Given the description of an element on the screen output the (x, y) to click on. 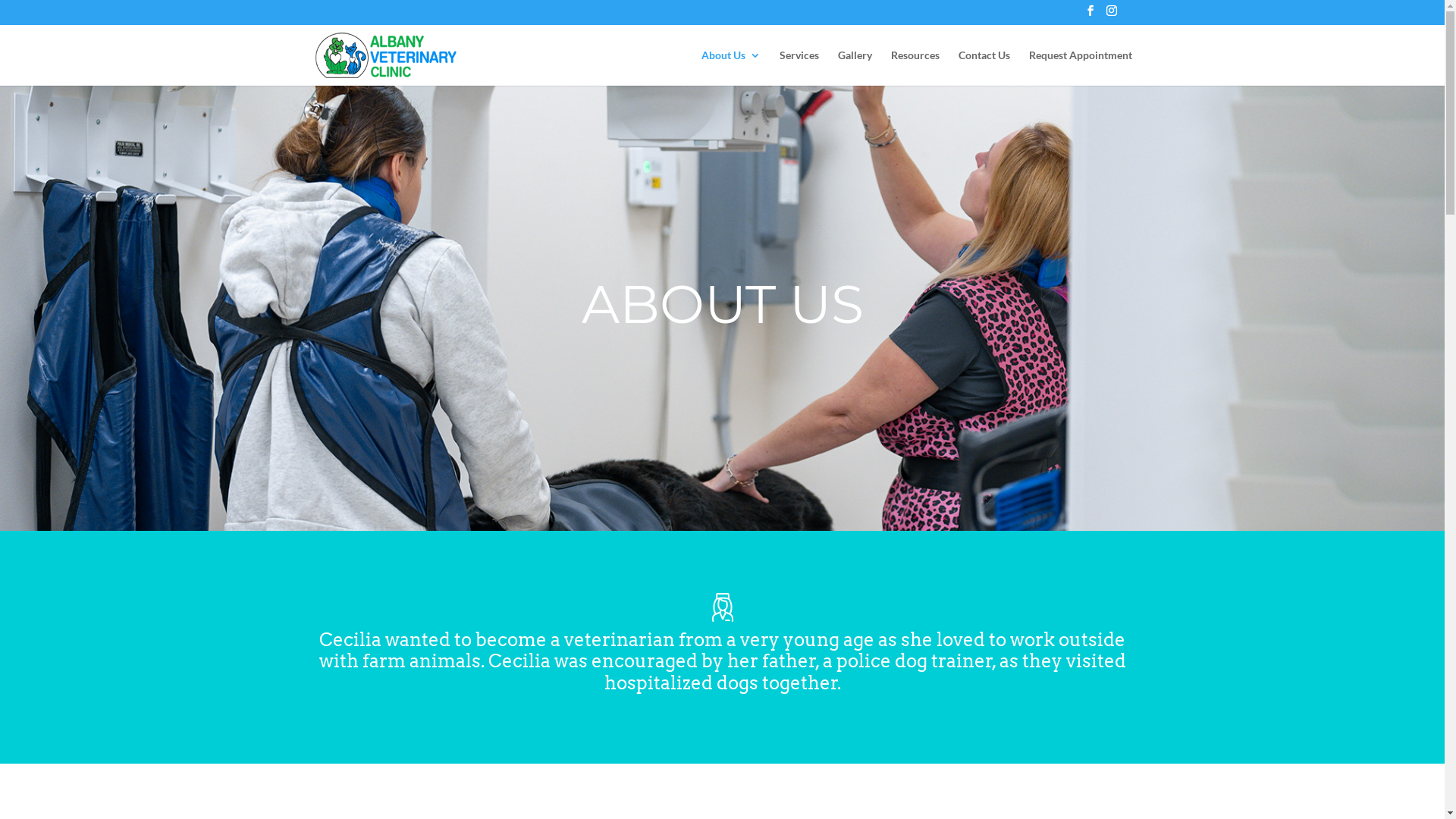
Contact Us Element type: text (984, 67)
Gallery Element type: text (854, 67)
Resources Element type: text (914, 67)
Services Element type: text (799, 67)
Request Appointment Element type: text (1079, 67)
About Us Element type: text (729, 67)
